Given the description of an element on the screen output the (x, y) to click on. 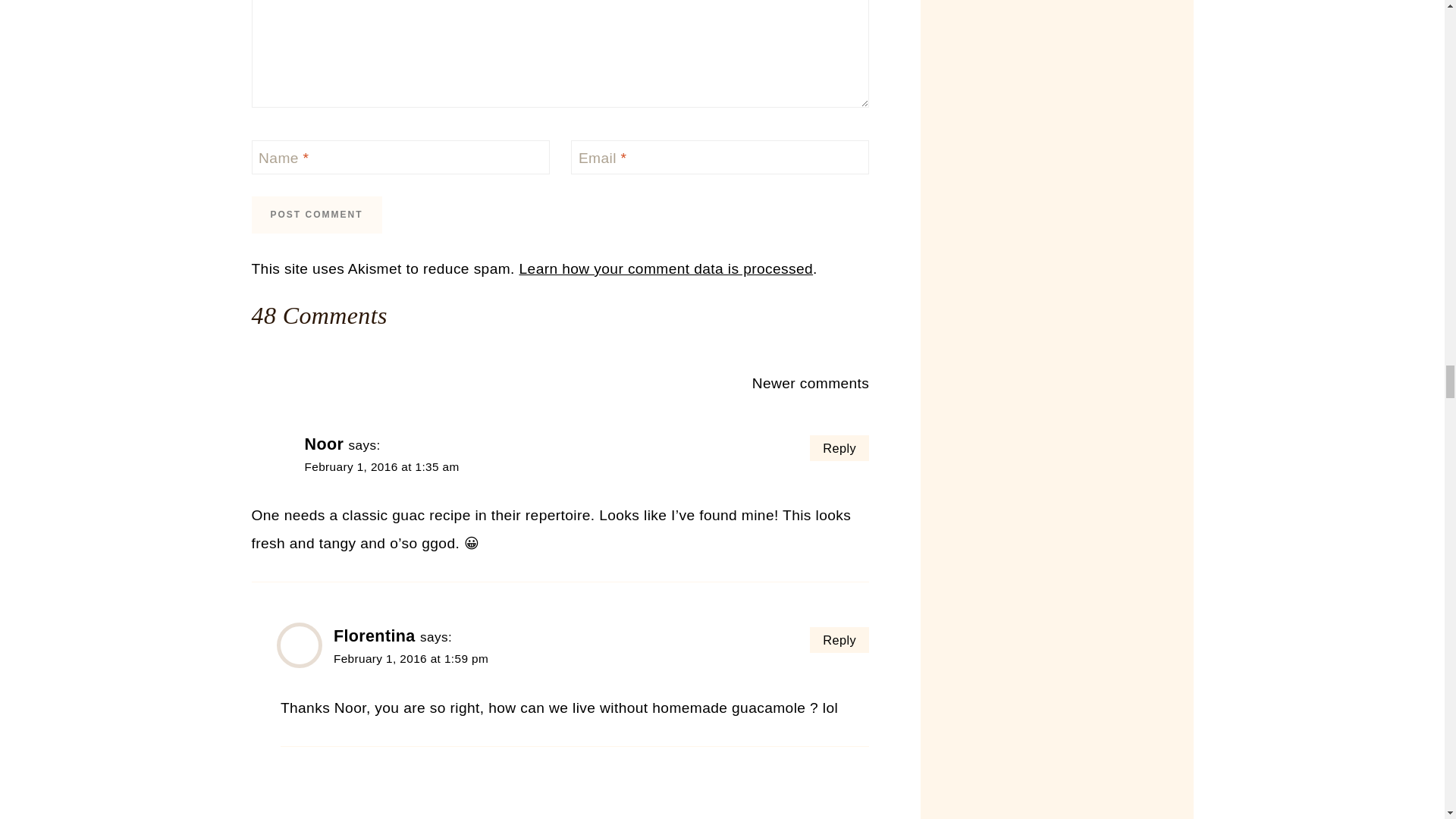
Post Comment (316, 214)
